Given the description of an element on the screen output the (x, y) to click on. 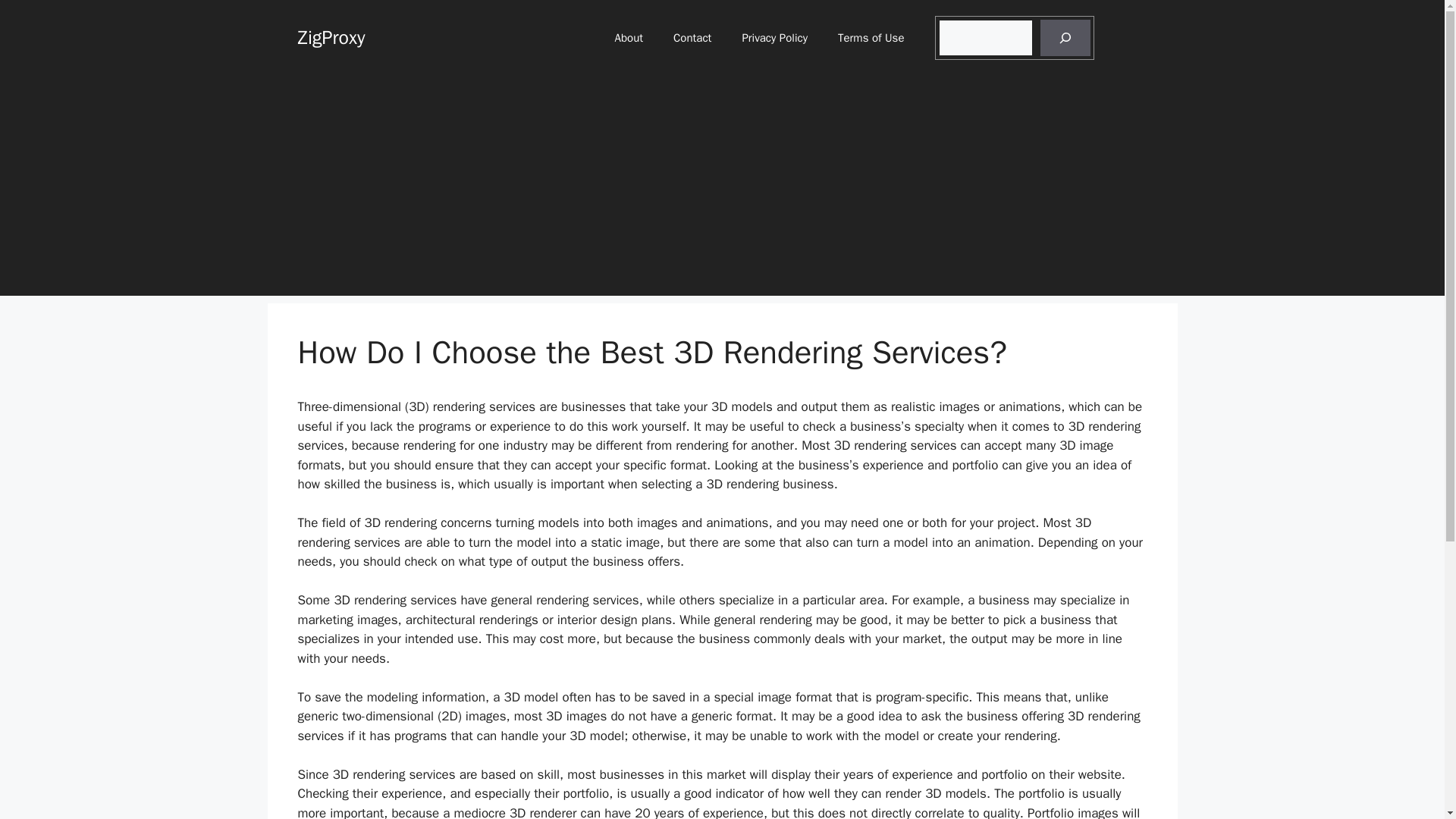
Contact (692, 37)
ZigProxy (331, 37)
Privacy Policy (774, 37)
About (628, 37)
Terms of Use (871, 37)
